Given the description of an element on the screen output the (x, y) to click on. 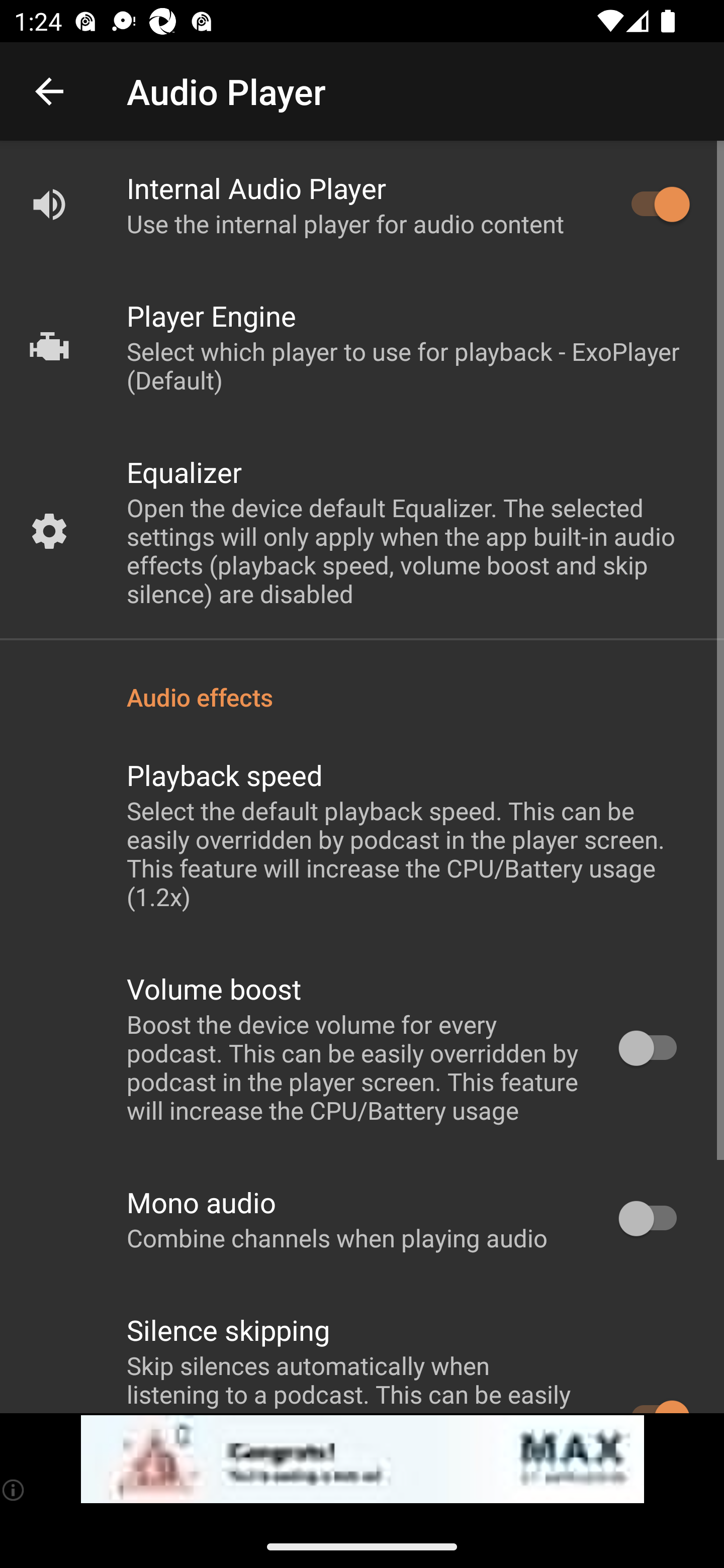
Navigate up (49, 91)
Mono audio Combine channels when playing audio (362, 1218)
app-monetization (362, 1459)
(i) (14, 1489)
